Given the description of an element on the screen output the (x, y) to click on. 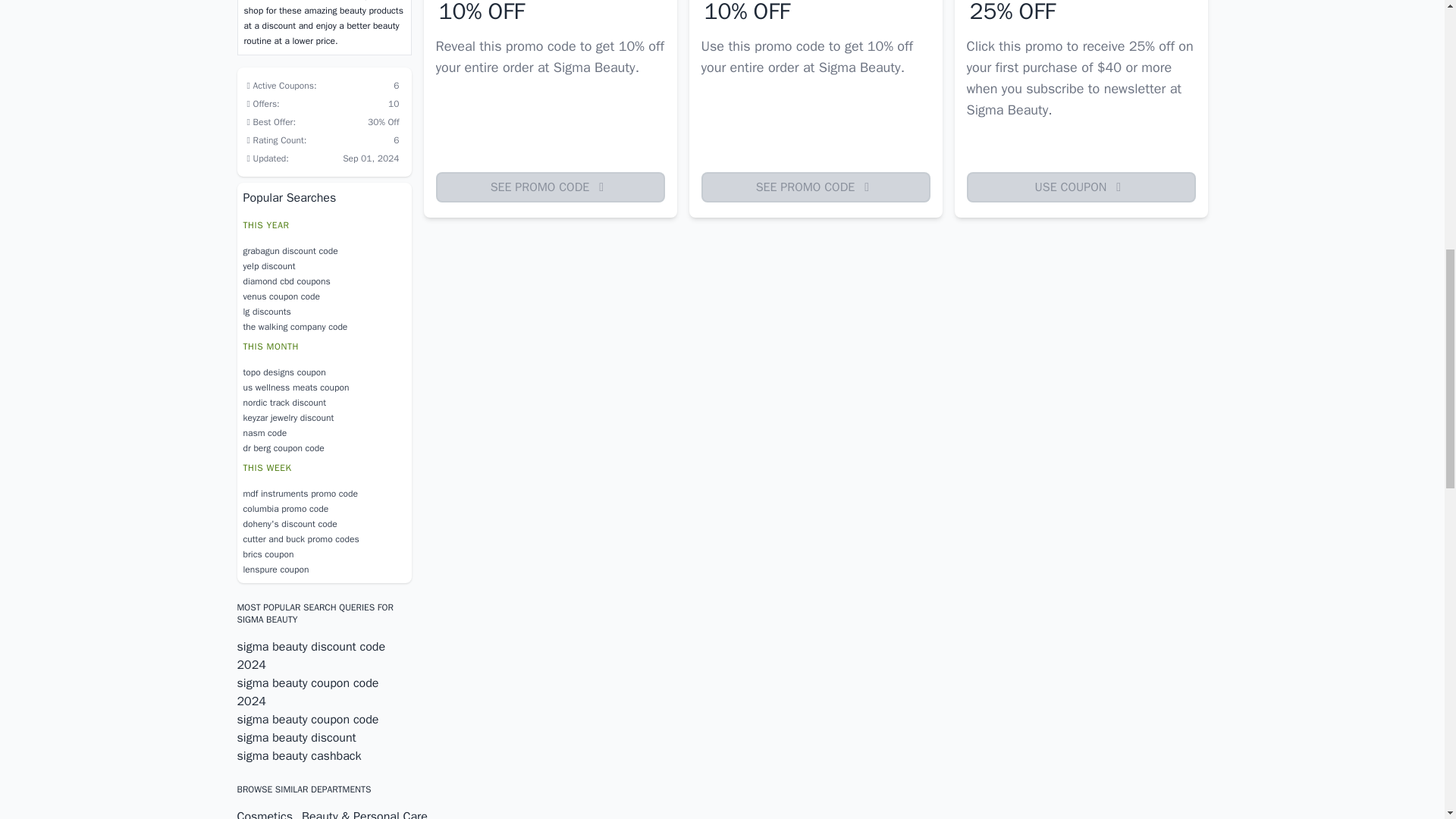
us wellness meats coupon (323, 387)
the walking company code (323, 326)
nordic track discount (323, 402)
nasm code (323, 432)
doheny's discount code (323, 523)
venus coupon code (323, 296)
topo designs coupon (323, 372)
grabagun discount code (323, 250)
keyzar jewelry discount (323, 417)
mdf instruments promo code (323, 493)
